Given the description of an element on the screen output the (x, y) to click on. 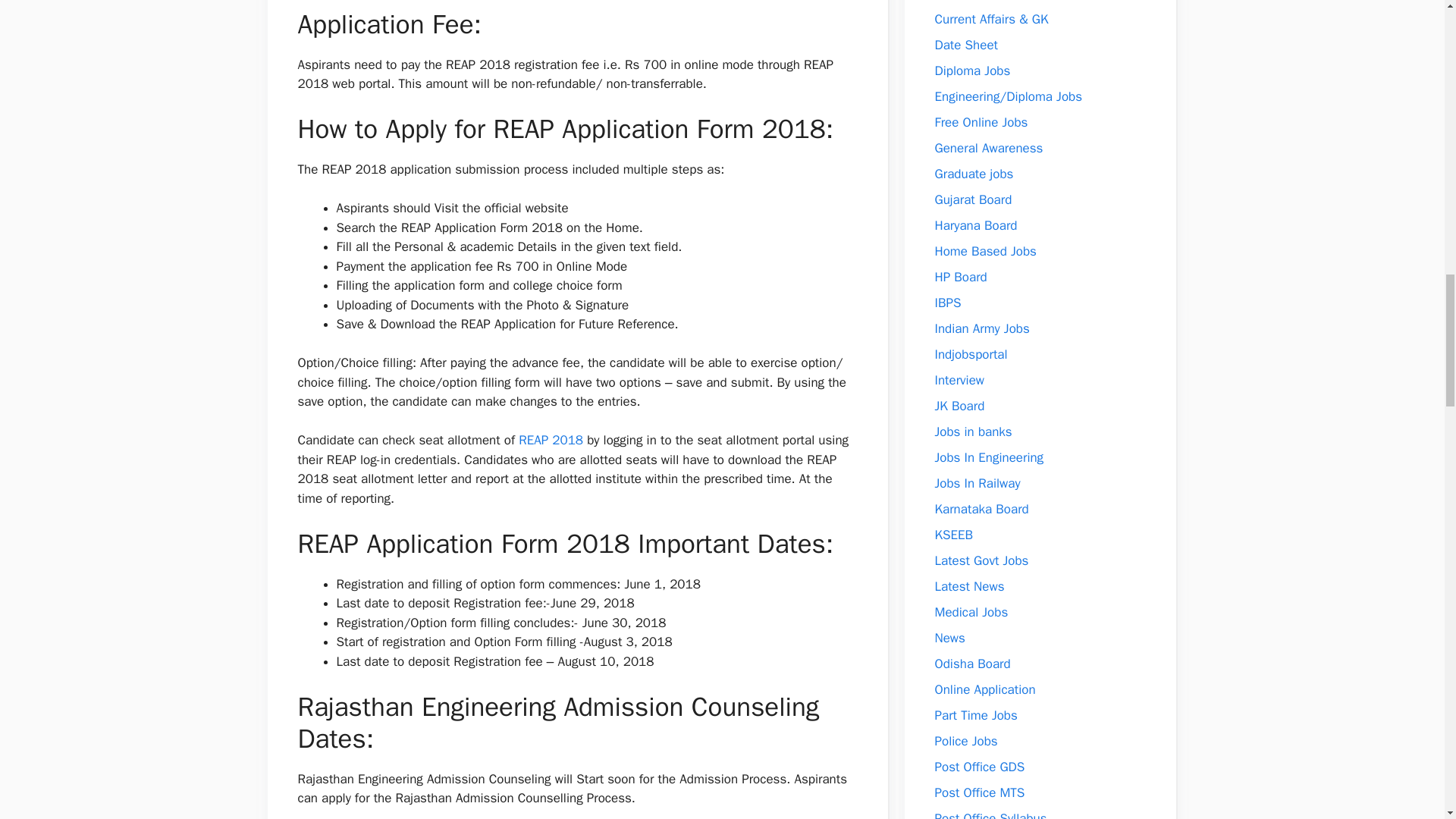
REAP 2018 (550, 439)
